Given the description of an element on the screen output the (x, y) to click on. 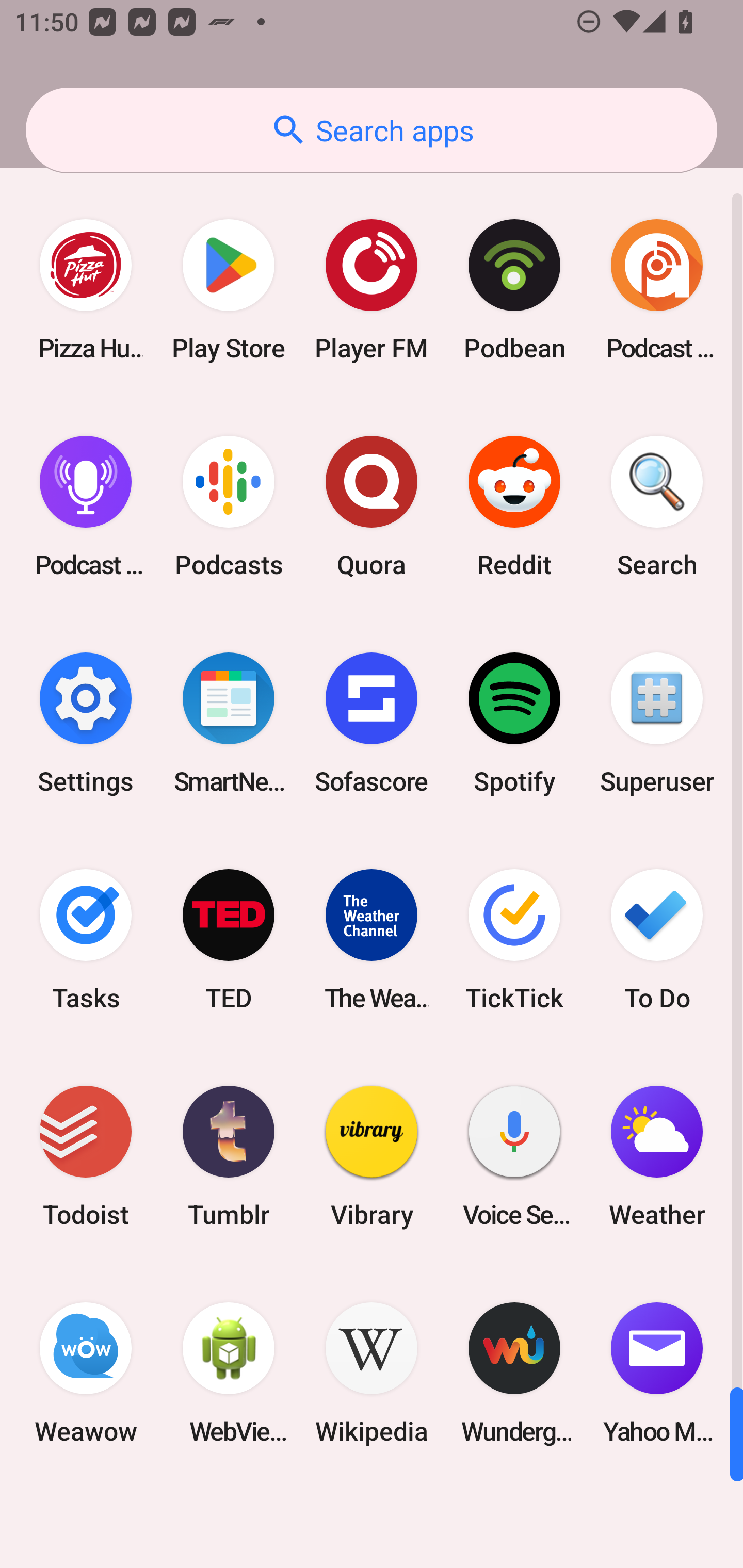
  Search apps (371, 130)
Pizza Hut HK & Macau (85, 289)
Play Store (228, 289)
Player FM (371, 289)
Podbean (514, 289)
Podcast Addict (656, 289)
Podcast Player (85, 506)
Podcasts (228, 506)
Quora (371, 506)
Reddit (514, 506)
Search (656, 506)
Settings (85, 722)
SmartNews (228, 722)
Sofascore (371, 722)
Spotify (514, 722)
Superuser (656, 722)
Tasks (85, 939)
TED (228, 939)
The Weather Channel (371, 939)
TickTick (514, 939)
To Do (656, 939)
Todoist (85, 1156)
Tumblr (228, 1156)
Vibrary (371, 1156)
Voice Search (514, 1156)
Weather (656, 1156)
Weawow (85, 1373)
WebView Browser Tester (228, 1373)
Wikipedia (371, 1373)
Wunderground (514, 1373)
Yahoo Mail (656, 1373)
